Given the description of an element on the screen output the (x, y) to click on. 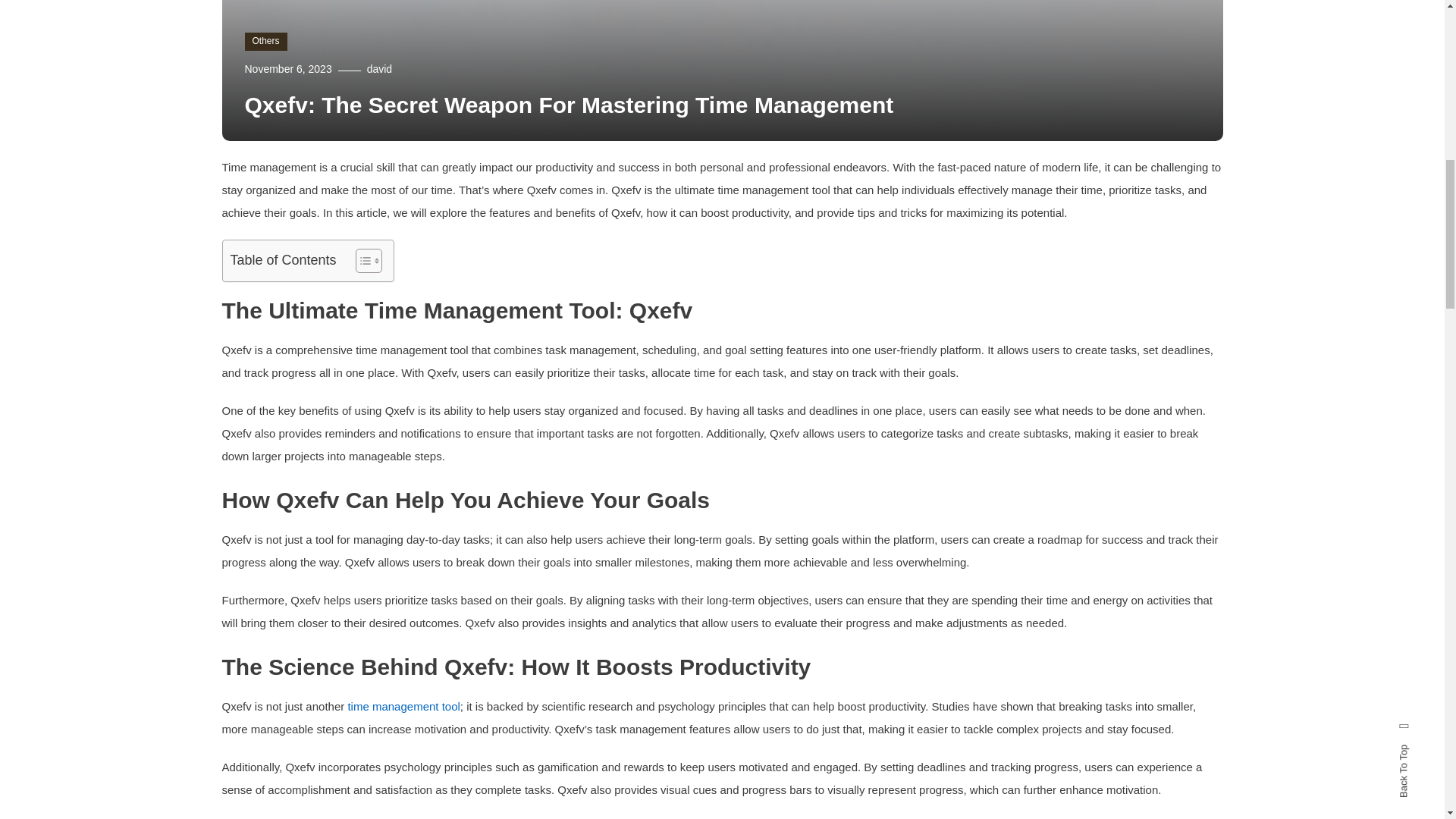
time management tool (403, 706)
Others (265, 41)
david (378, 69)
November 6, 2023 (287, 69)
